Given the description of an element on the screen output the (x, y) to click on. 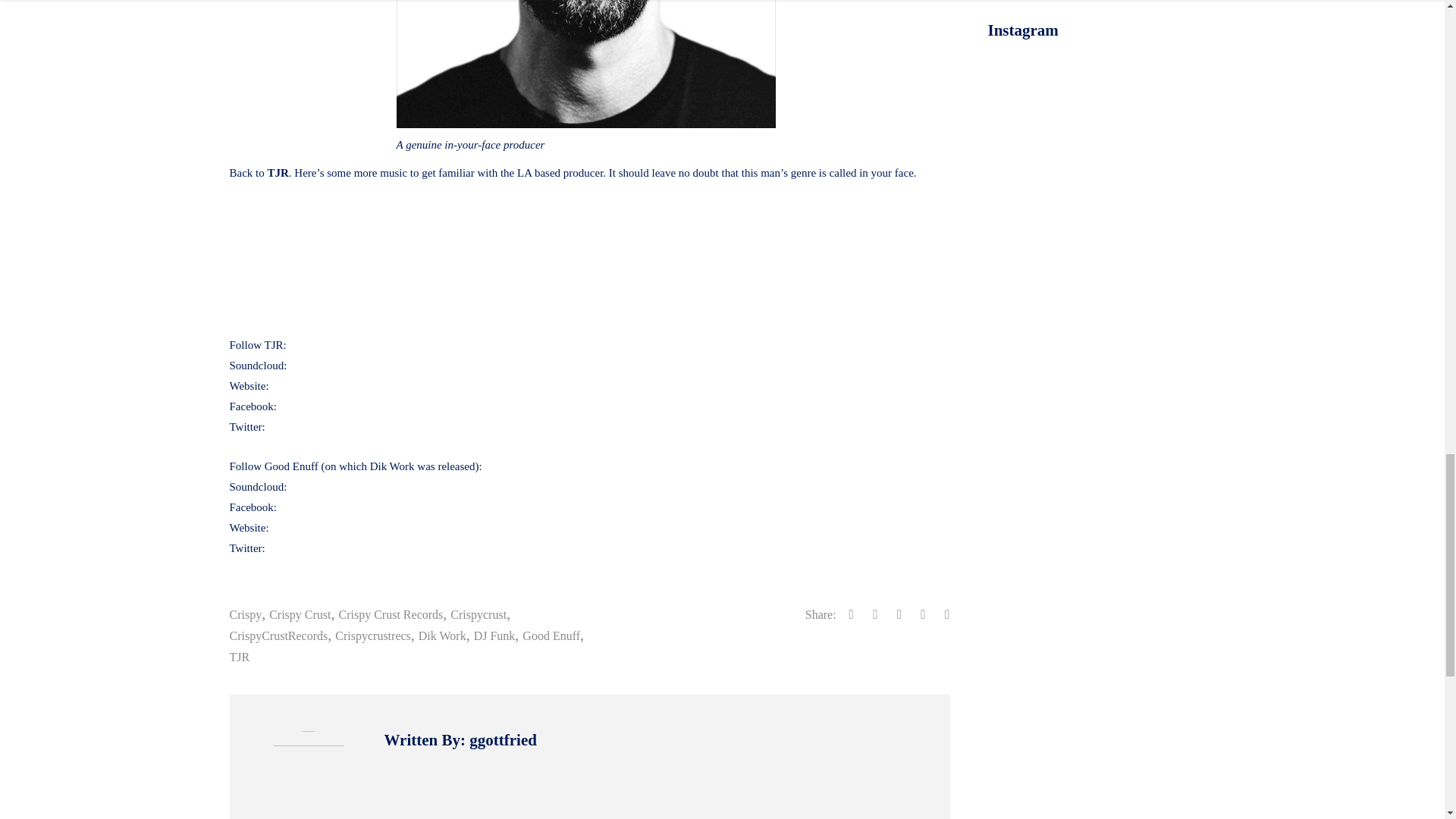
Crispycrust (477, 614)
Crispycrustrecs (372, 635)
DJ Funk (494, 635)
iamtjr.com (295, 386)
Crispy (245, 614)
goodenuff.com (305, 527)
TJR (238, 657)
Crispy Crust (299, 614)
Good Enuff (550, 635)
CrispyCrustRecords (277, 635)
Dik Work (442, 635)
Crispy Crust Records (391, 614)
